Given the description of an element on the screen output the (x, y) to click on. 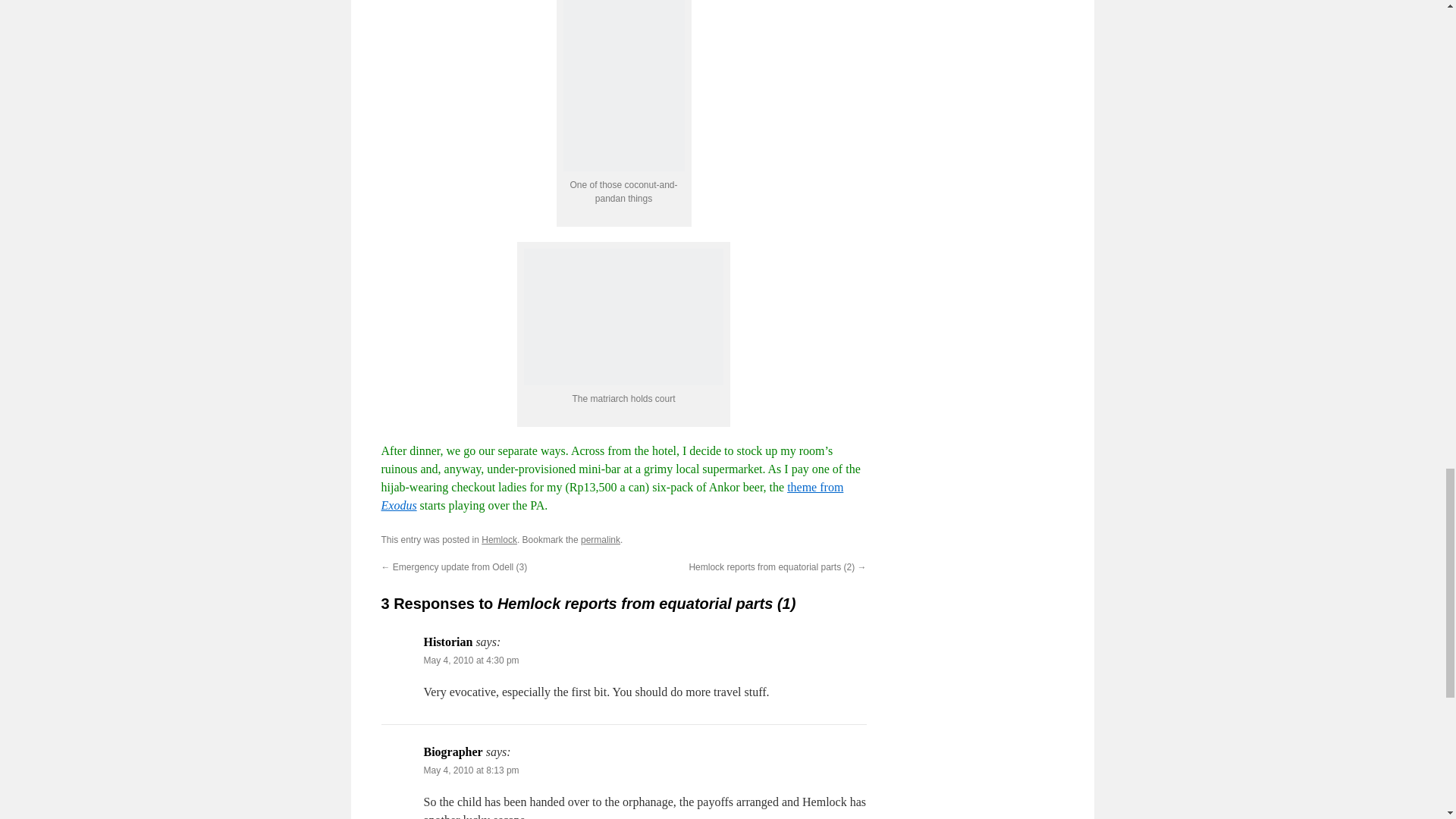
permalink (600, 539)
May 4, 2010 at 4:30 pm (470, 660)
Hemlock (498, 539)
May 4, 2010 at 8:13 pm (470, 769)
theme from Exodus (611, 495)
